Given the description of an element on the screen output the (x, y) to click on. 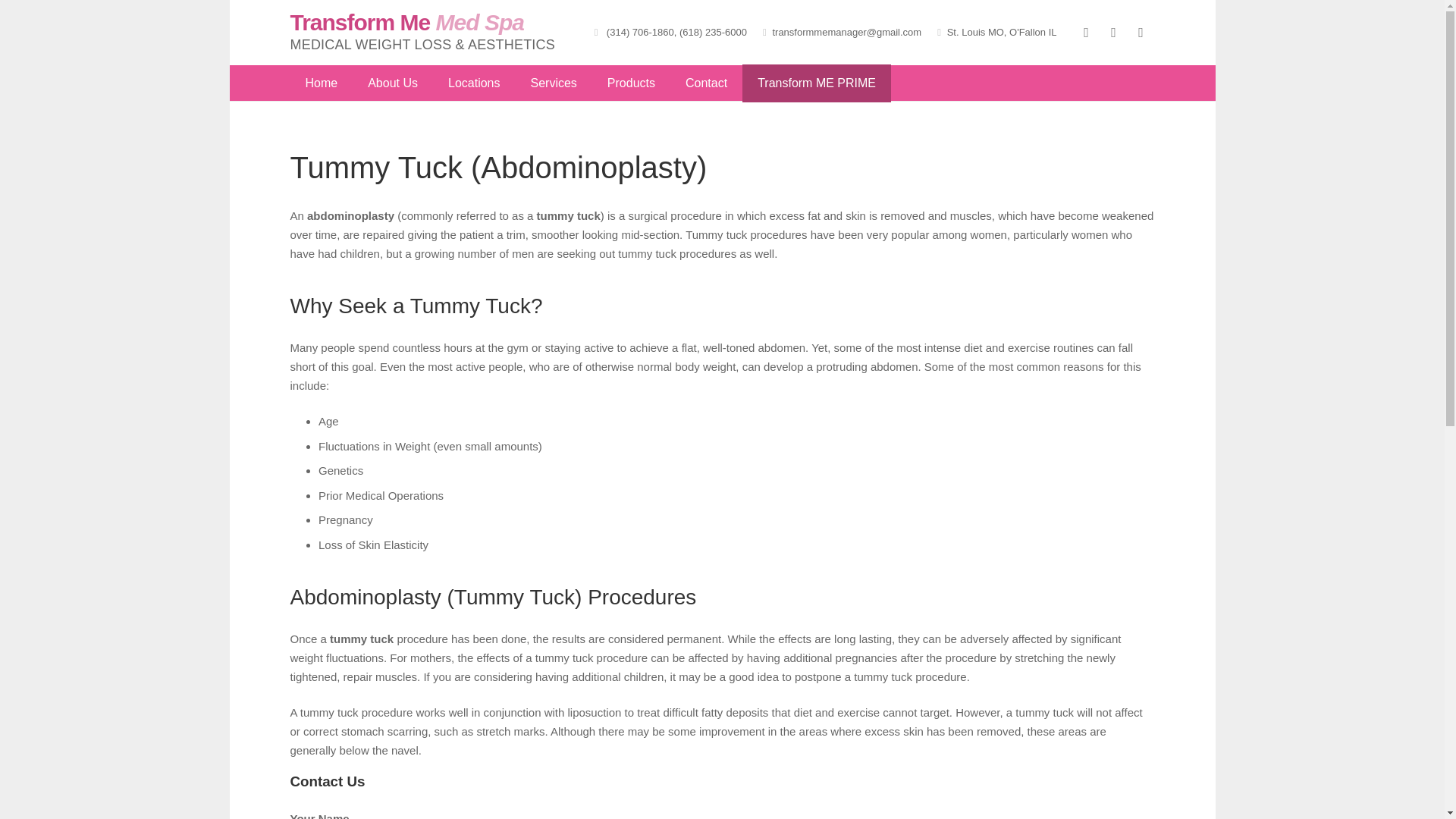
Services (553, 82)
Locations (473, 82)
Home (320, 82)
About Us (392, 82)
